Given the description of an element on the screen output the (x, y) to click on. 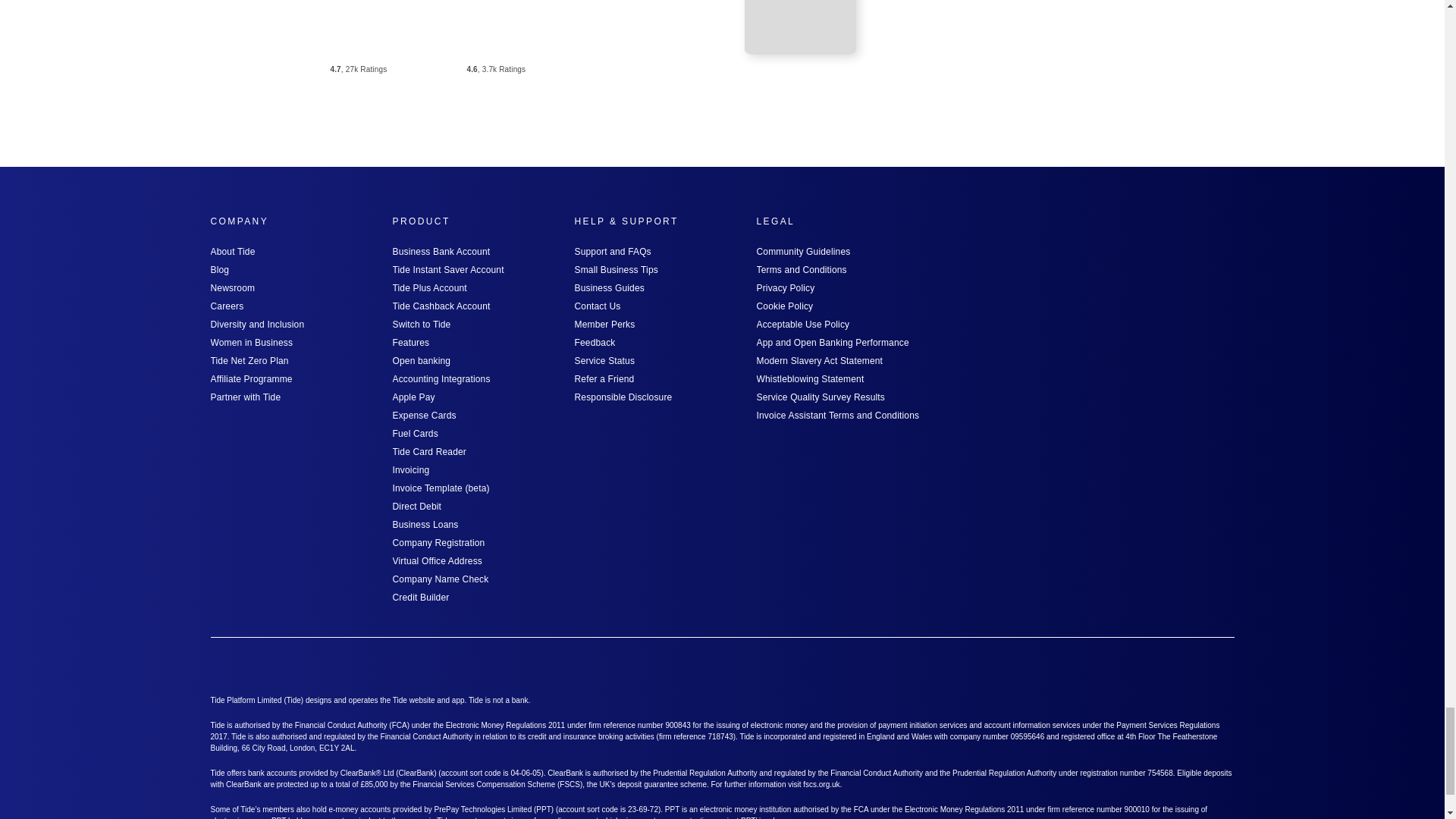
Follow Tide on TiktTok (1222, 666)
Follow Tide on Facebook (1141, 666)
Follow Tide on LinkedIn (1060, 666)
Follow Tide on YouTube (1181, 666)
Follow Tide on Twitter (1019, 666)
Follow Tide on Instagram (1100, 666)
